Given the description of an element on the screen output the (x, y) to click on. 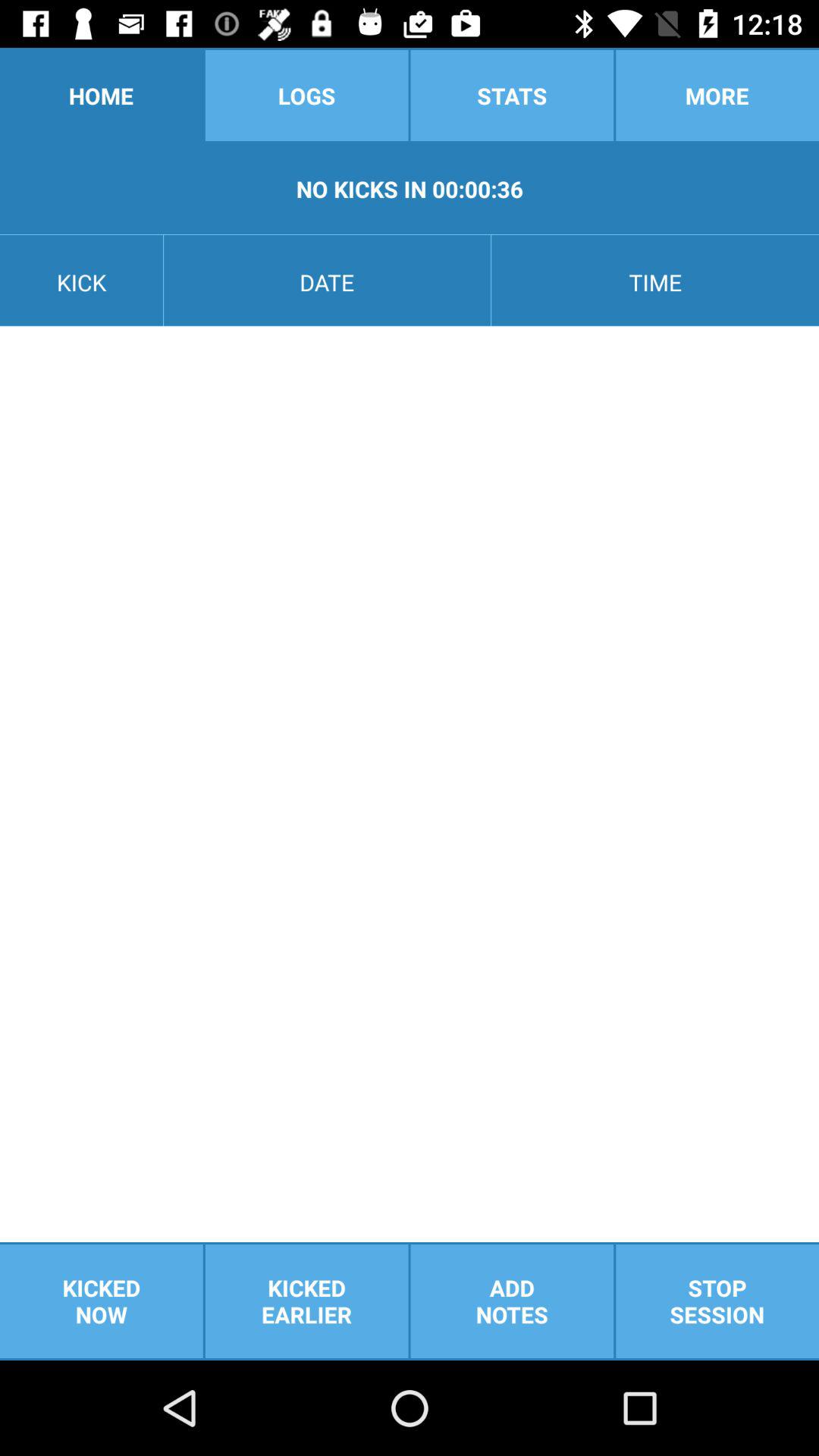
choose the stats button (511, 95)
